Given the description of an element on the screen output the (x, y) to click on. 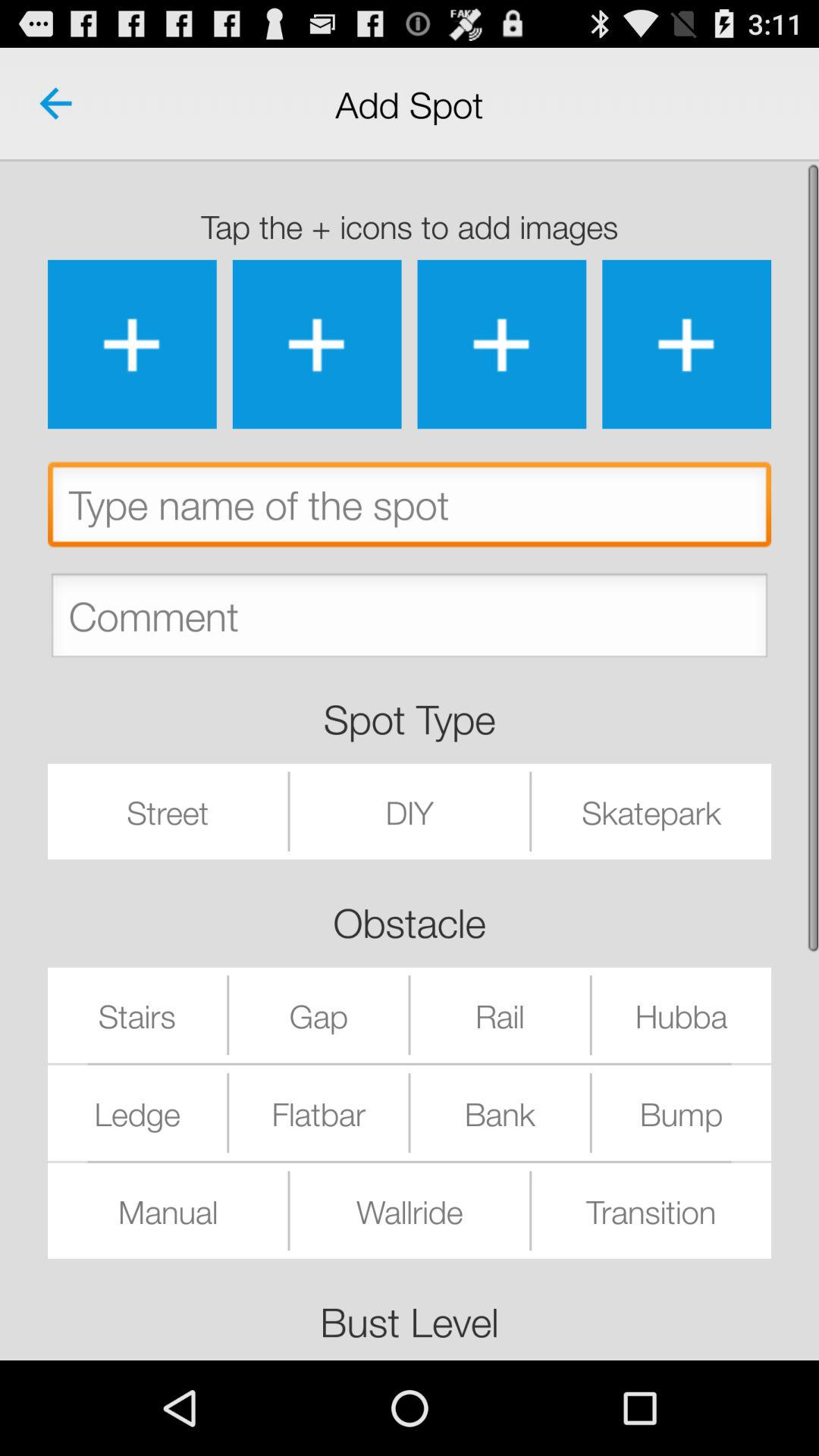
add image (131, 343)
